Given the description of an element on the screen output the (x, y) to click on. 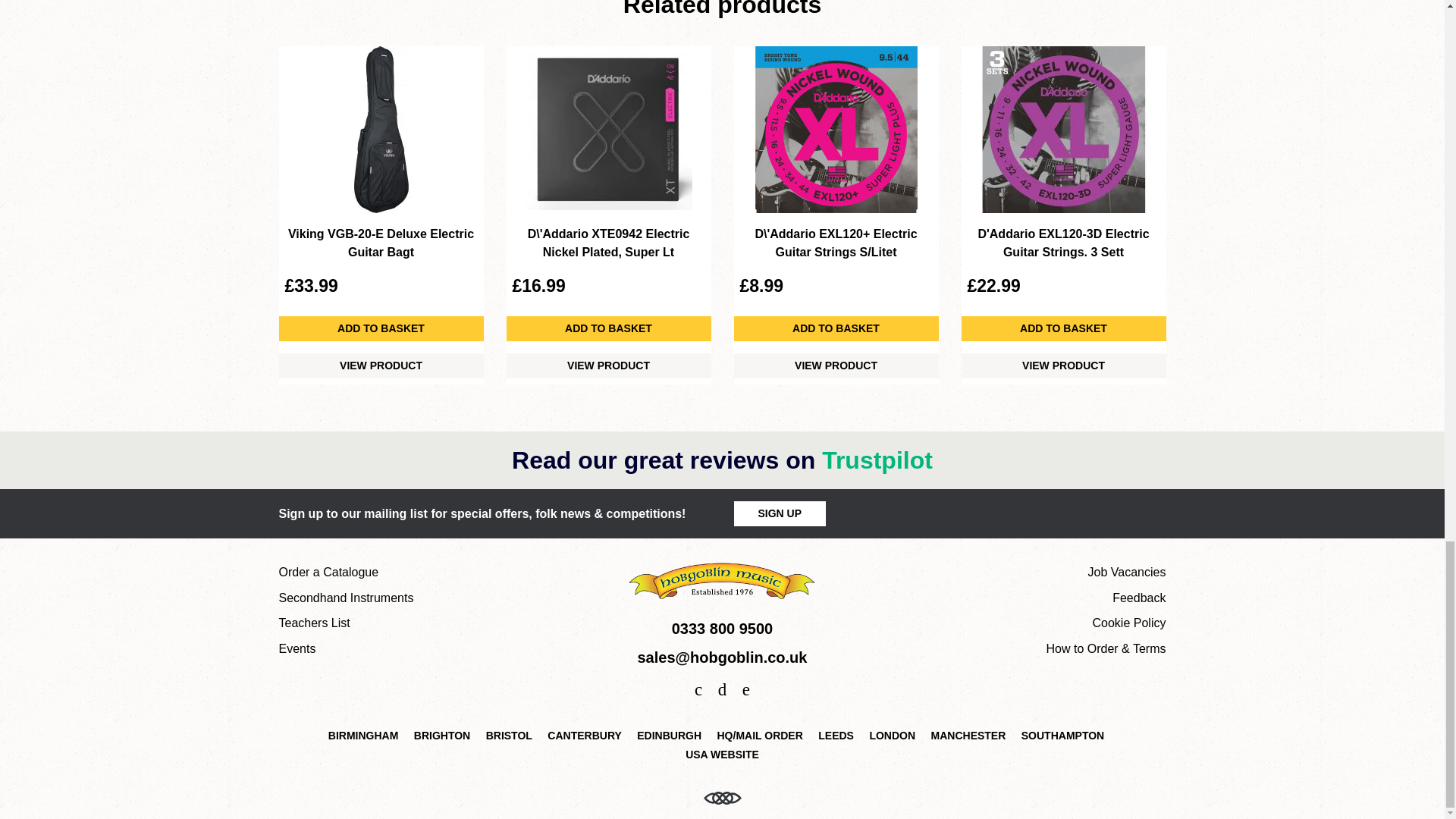
Viking VGB-20-E Deluxe Electric Guitar Bag (380, 128)
